Given the description of an element on the screen output the (x, y) to click on. 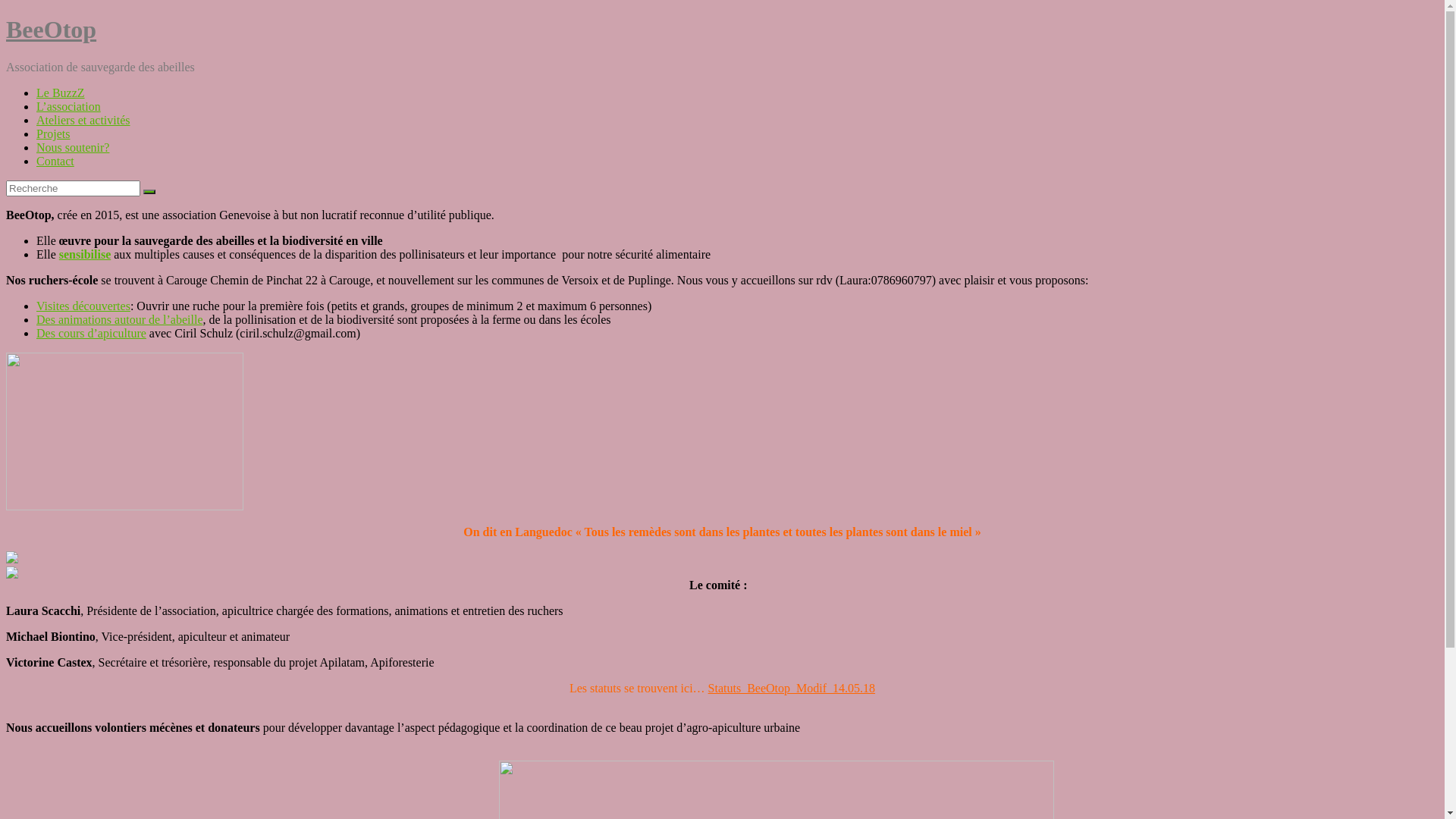
BeeOtop Element type: text (51, 29)
Contact Element type: text (55, 160)
Le BuzzZ Element type: text (60, 92)
Statuts_BeeOtop_Modif_14.05.18 Element type: text (791, 687)
sensibilise Element type: text (84, 253)
Nous soutenir? Element type: text (72, 147)
Projets Element type: text (52, 133)
